Given the description of an element on the screen output the (x, y) to click on. 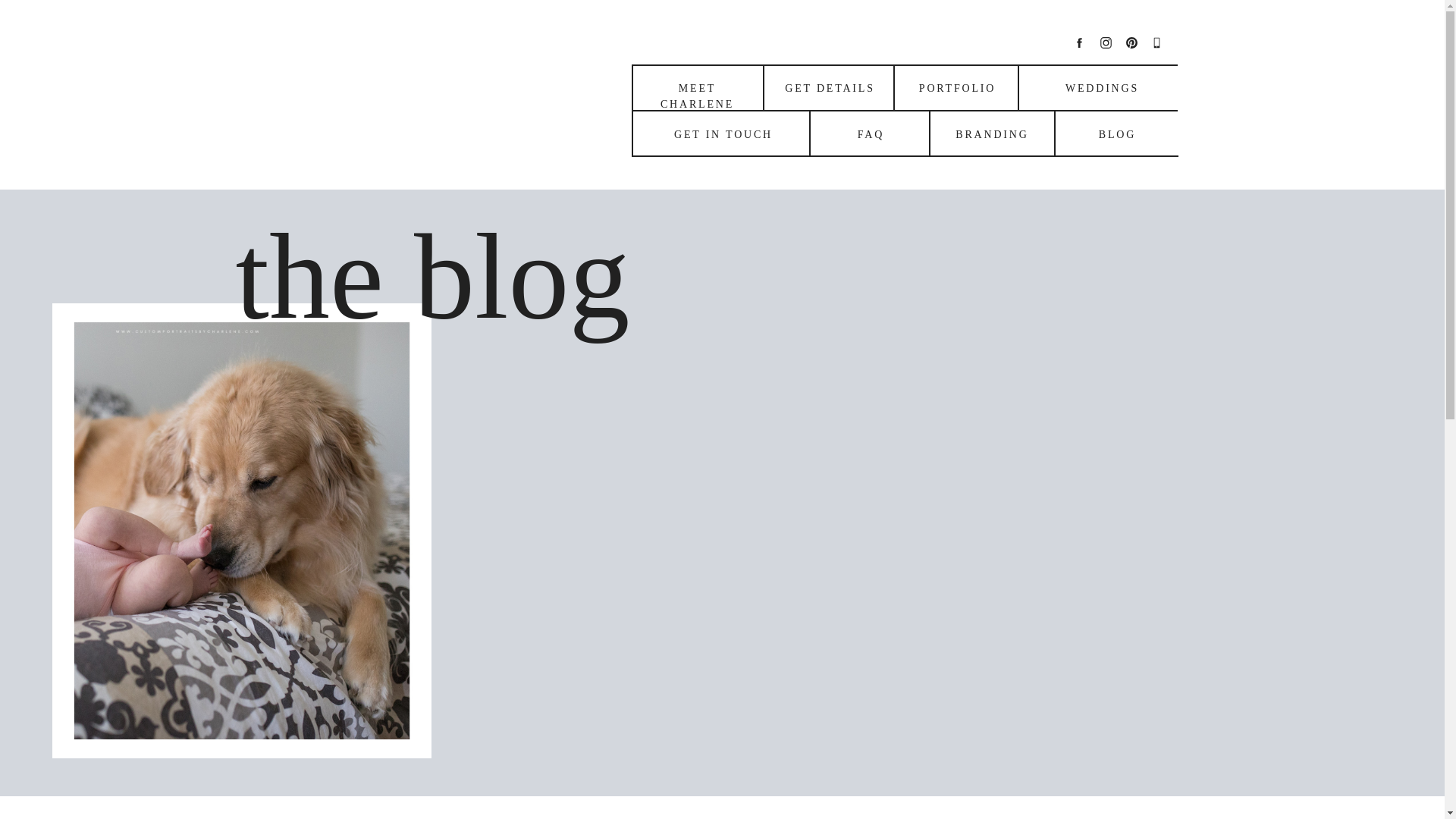
GET DETAILS (830, 87)
NEWBORN SESSION (354, 395)
MEET CHARLENE (698, 87)
BRANDING (991, 133)
BLOG (1116, 133)
FAQ (869, 133)
GET IN TOUCH (723, 133)
PORTFOLIO (956, 87)
WEDDINGS (1102, 87)
VIEW FULL POST (241, 682)
LIFESTYLE SESSION (189, 395)
